Given the description of an element on the screen output the (x, y) to click on. 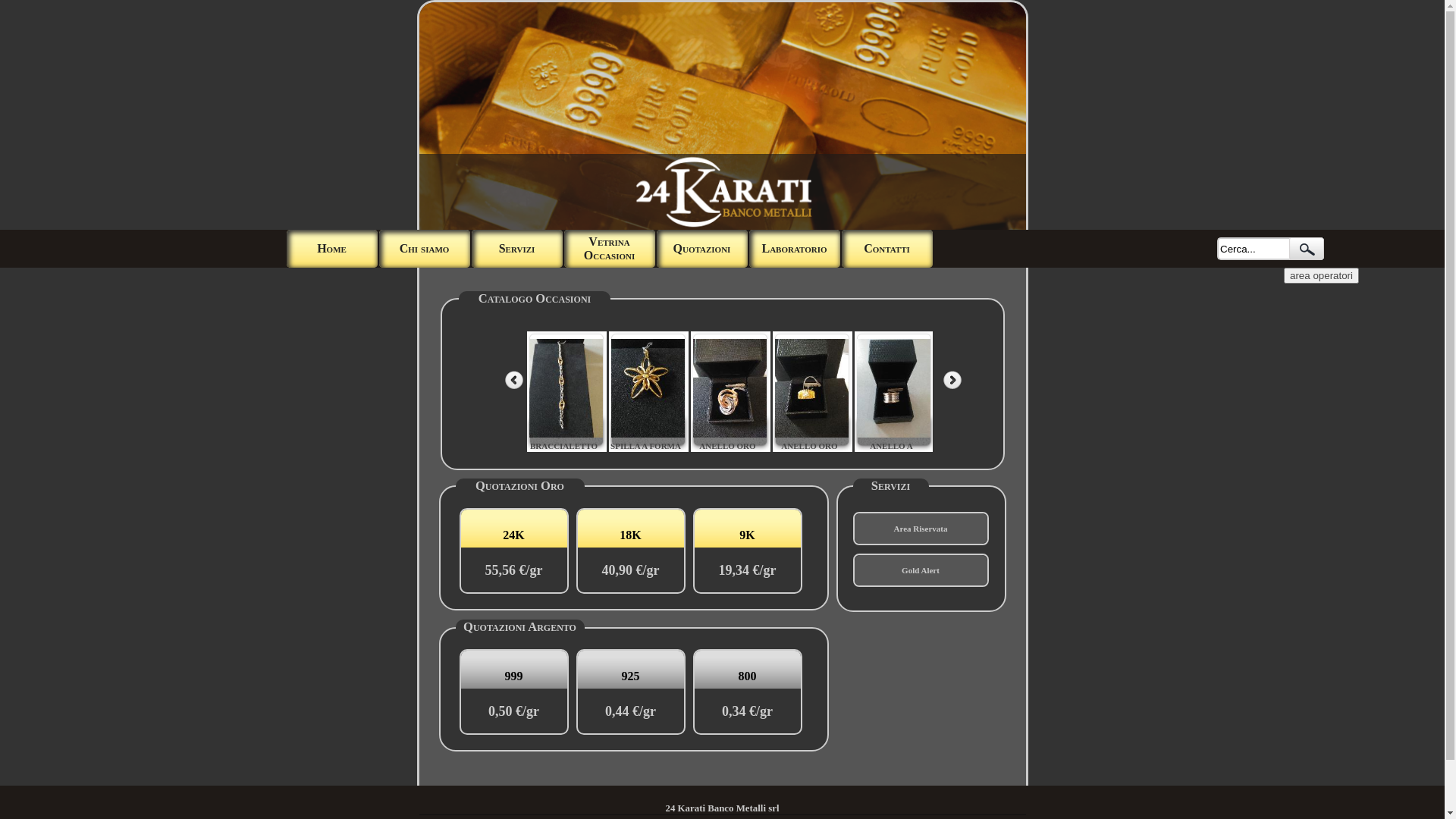
Servizi Element type: text (516, 248)
Chi siamo Element type: text (424, 248)
Home Element type: text (331, 248)
Quotazioni Element type: text (701, 248)
area operatori Element type: text (1320, 275)
Vetrina Occasioni Element type: text (609, 248)
Laboratorio Element type: text (794, 248)
Contatti Element type: text (886, 248)
Gold Alert Element type: text (919, 570)
Cerca... Element type: text (1253, 248)
Area Riservata Element type: text (919, 528)
